Given the description of an element on the screen output the (x, y) to click on. 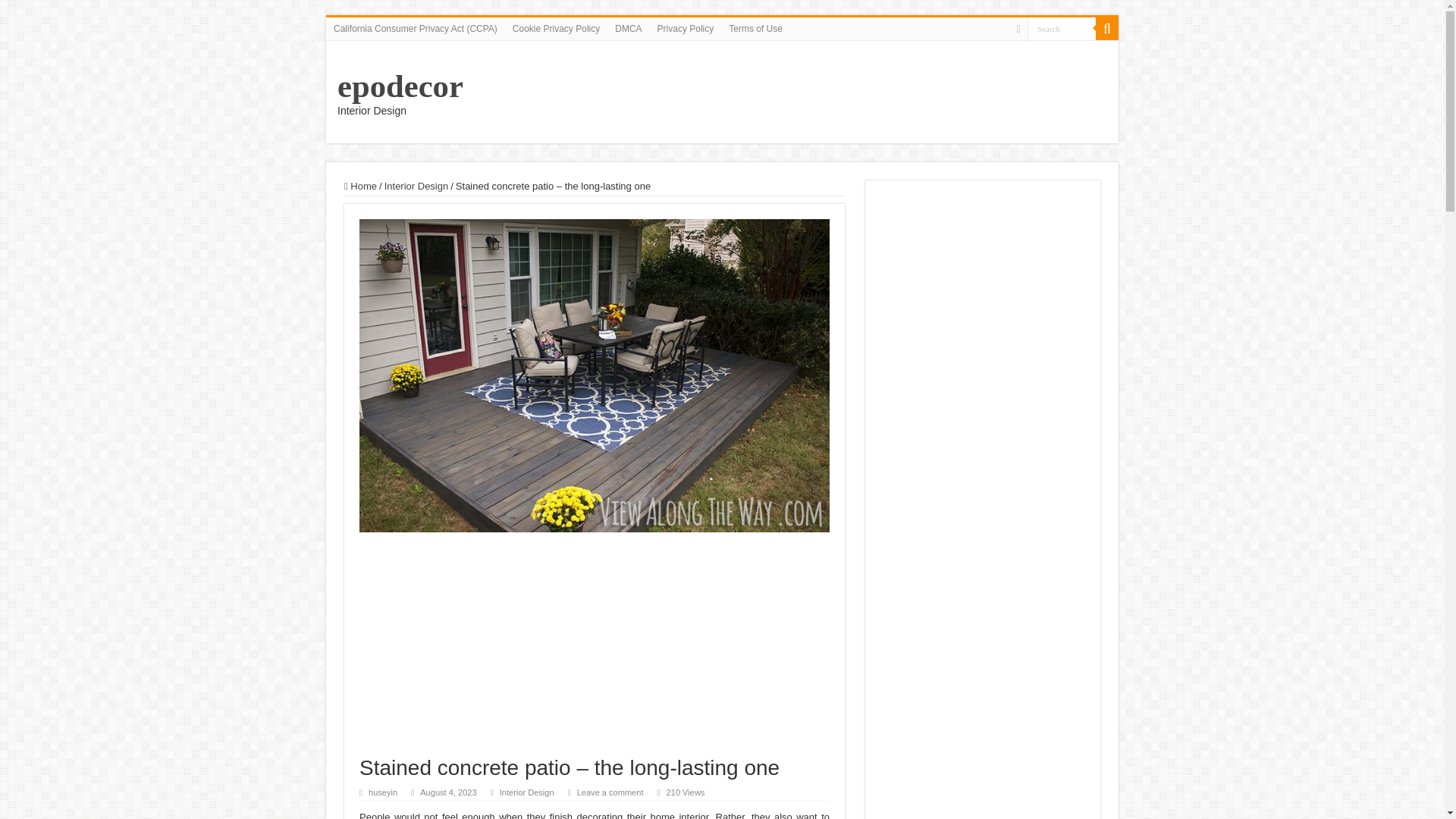
Advertisement (982, 747)
Leave a comment (609, 791)
Search (1107, 28)
Interior Design (416, 185)
Cookie Privacy Policy (556, 28)
DMCA (628, 28)
epodecor (400, 85)
huseyin (382, 791)
Search (1061, 28)
Advertisement (594, 649)
